Given the description of an element on the screen output the (x, y) to click on. 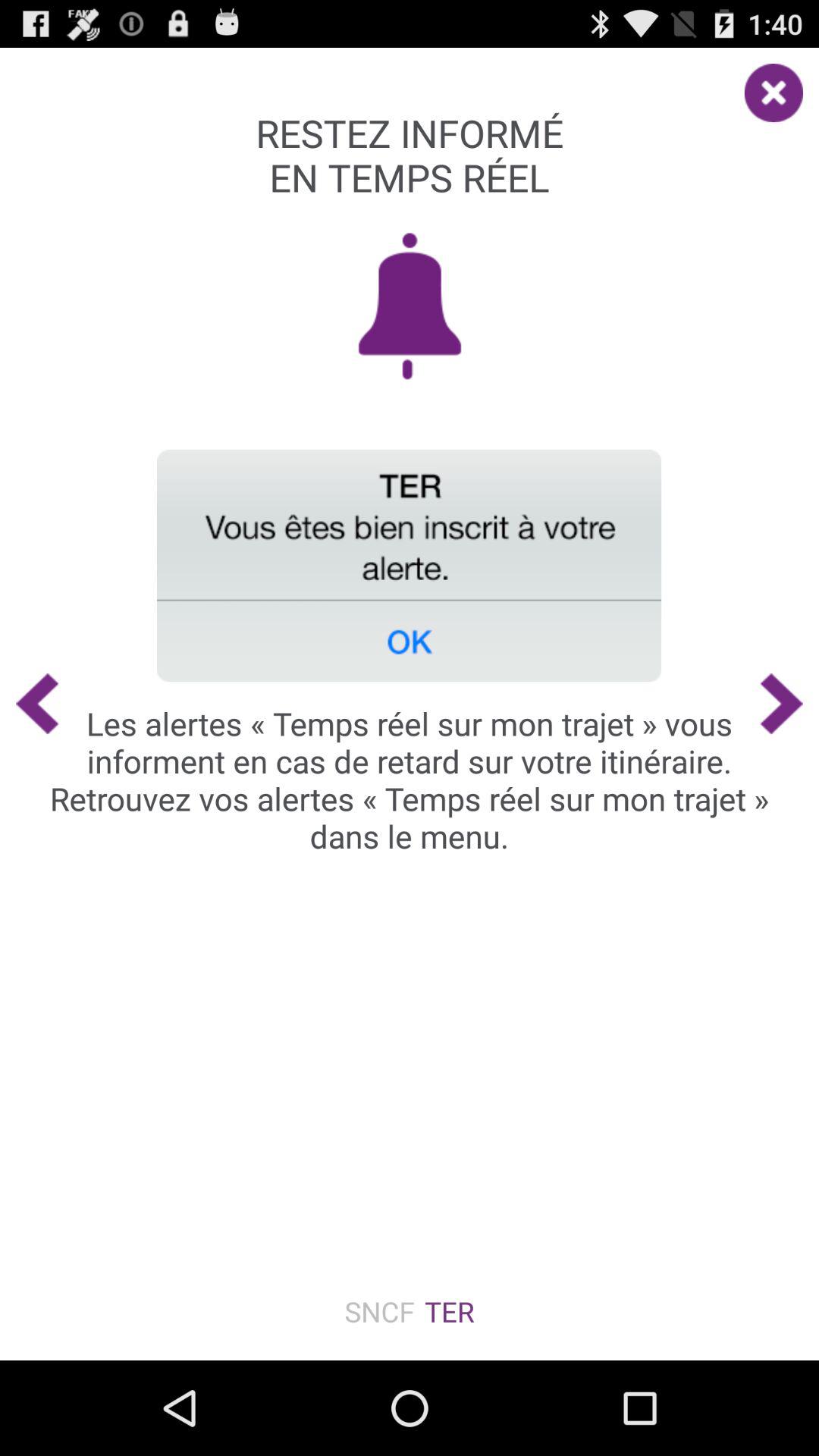
click item at the top right corner (781, 84)
